Given the description of an element on the screen output the (x, y) to click on. 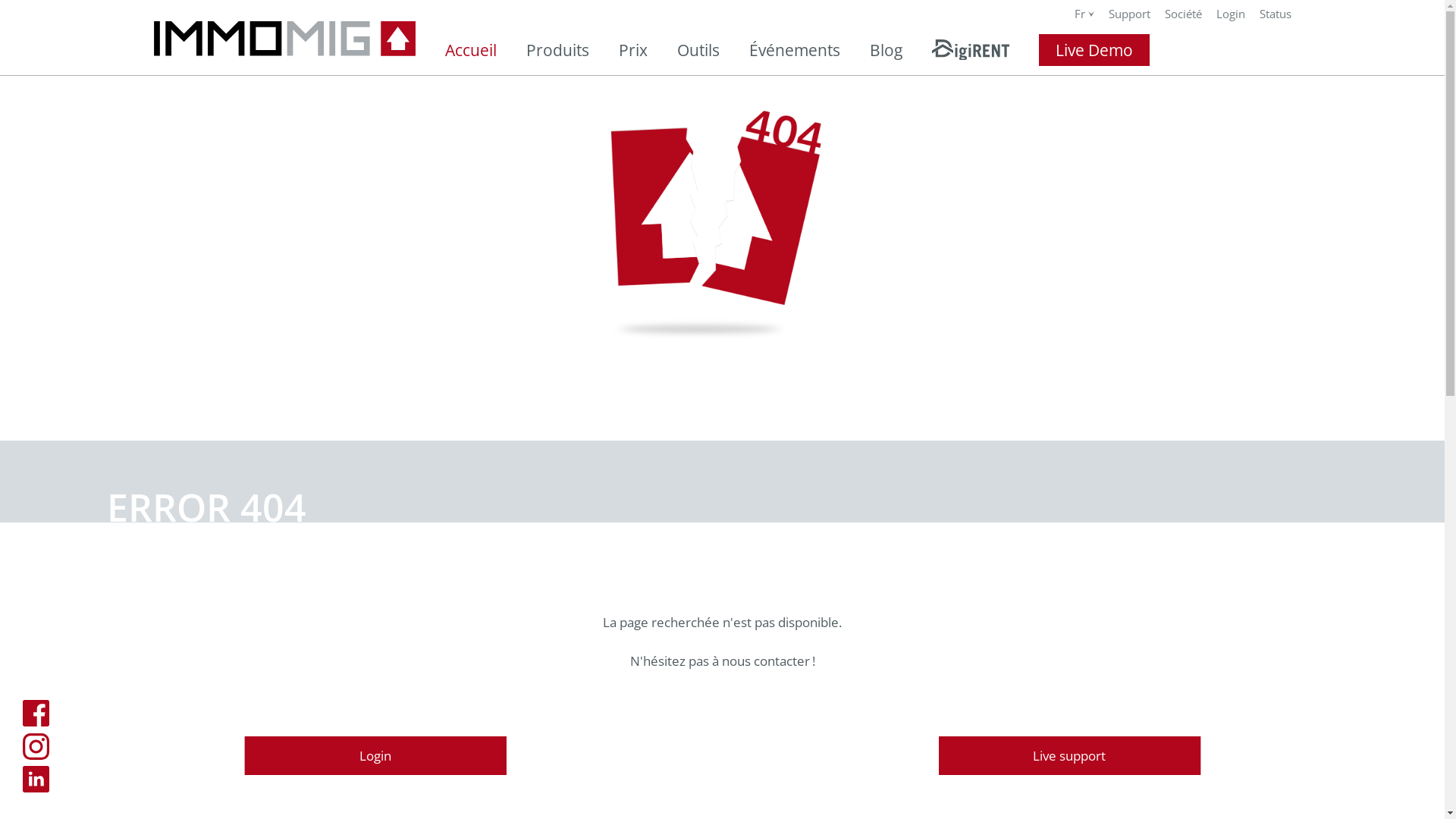
Live Demo Element type: text (1093, 49)
Blog Element type: text (885, 49)
Outils Element type: text (698, 49)
Login Element type: text (374, 755)
Accueil Element type: text (469, 49)
Prix Element type: text (632, 49)
Status Element type: text (1274, 13)
Support Element type: text (1129, 13)
Live support Element type: text (1069, 755)
Produits Element type: text (557, 49)
Login Element type: text (1230, 13)
